Given the description of an element on the screen output the (x, y) to click on. 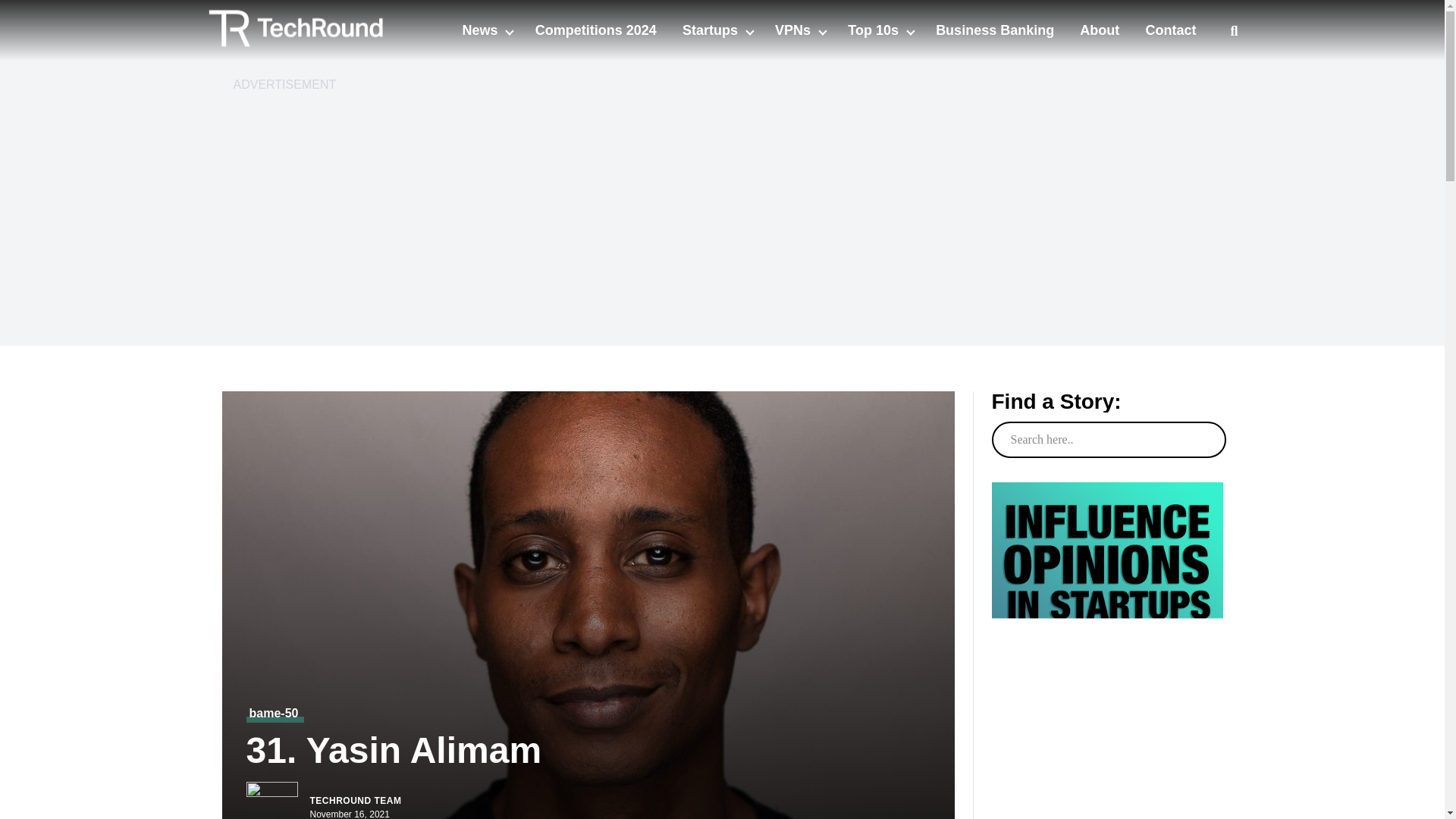
Top 10s (874, 30)
VPNs (793, 30)
News (480, 30)
Startups (711, 30)
Competitions 2024 (596, 30)
